Given the description of an element on the screen output the (x, y) to click on. 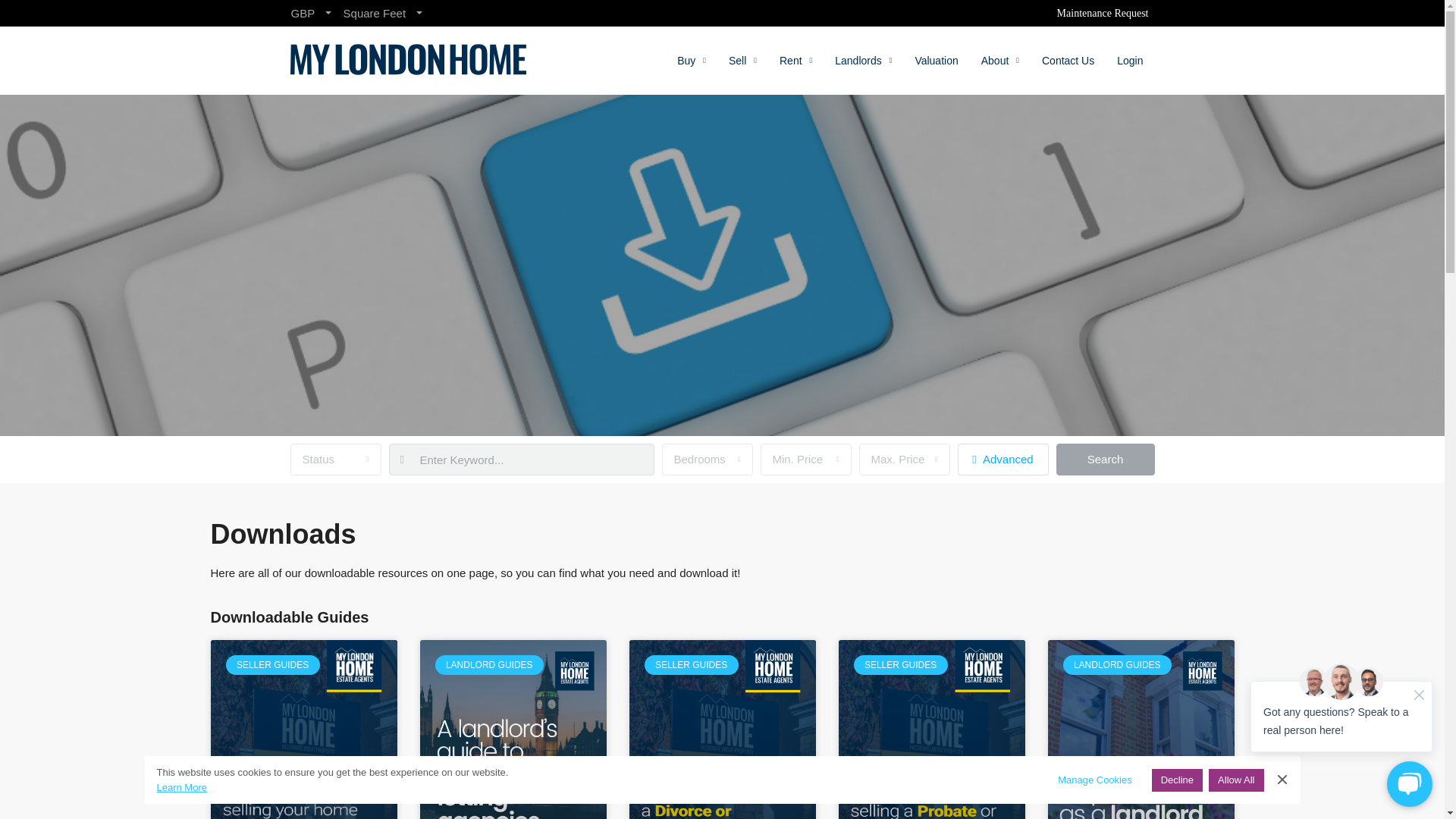
Min. Price (805, 459)
Square Feet (382, 13)
GBP (310, 13)
Max. Price (904, 459)
Status (334, 459)
Bedrooms (706, 459)
